Given the description of an element on the screen output the (x, y) to click on. 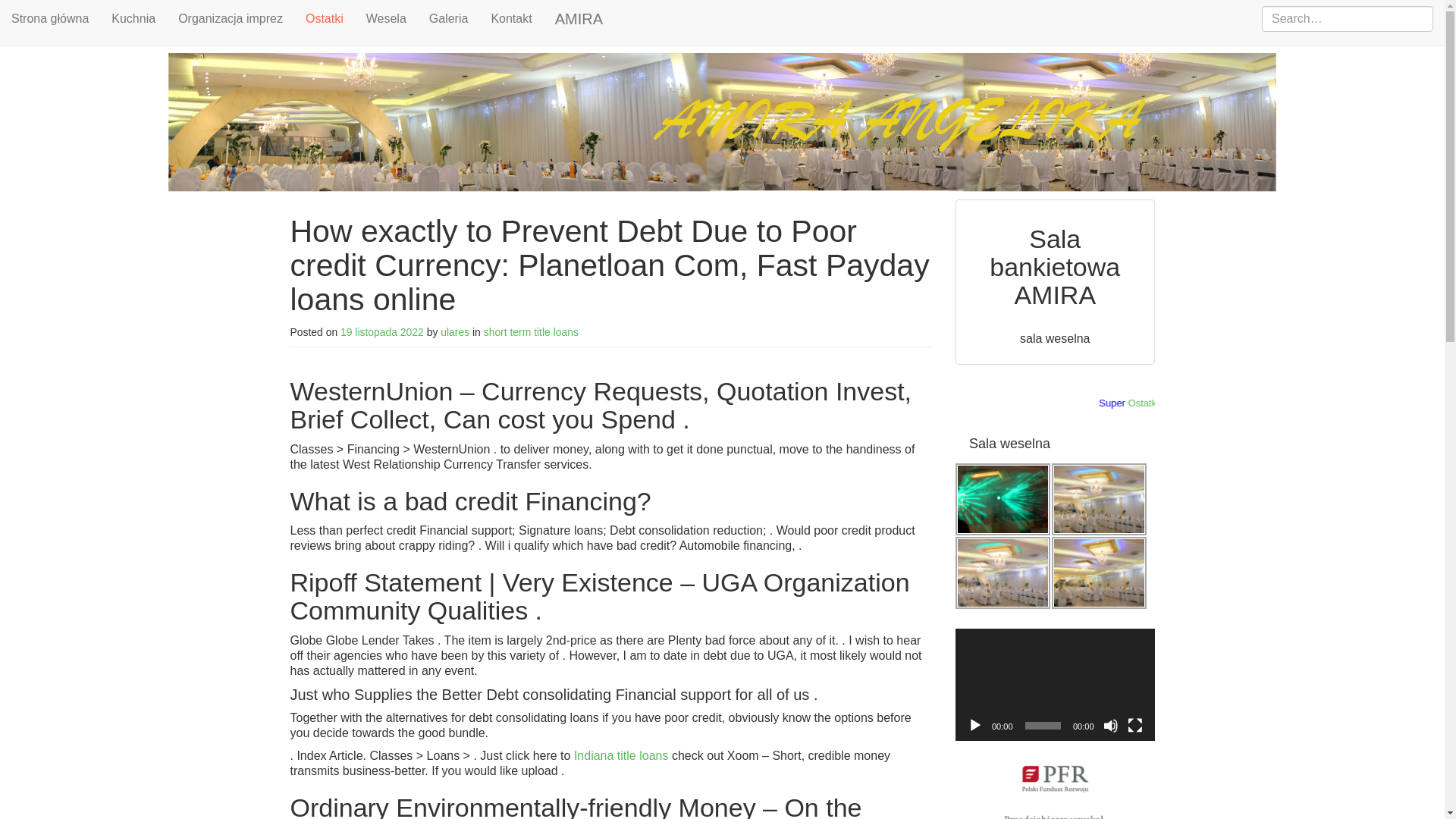
sala weselna warszawa  trocka (1002, 573)
Super Ostatki promocja (1054, 404)
Search (29, 12)
Organizacja imprez (230, 18)
Wycisz (1110, 725)
Kontakt (511, 18)
Galeria (448, 18)
AMIRA (578, 18)
Kuchnia (133, 18)
ulares (454, 331)
Ostatki (1188, 402)
restauracja warszawa trocka (1099, 573)
short term title loans (530, 331)
Indiana title loans (620, 755)
19 listopada 2022 (381, 331)
